Given the description of an element on the screen output the (x, y) to click on. 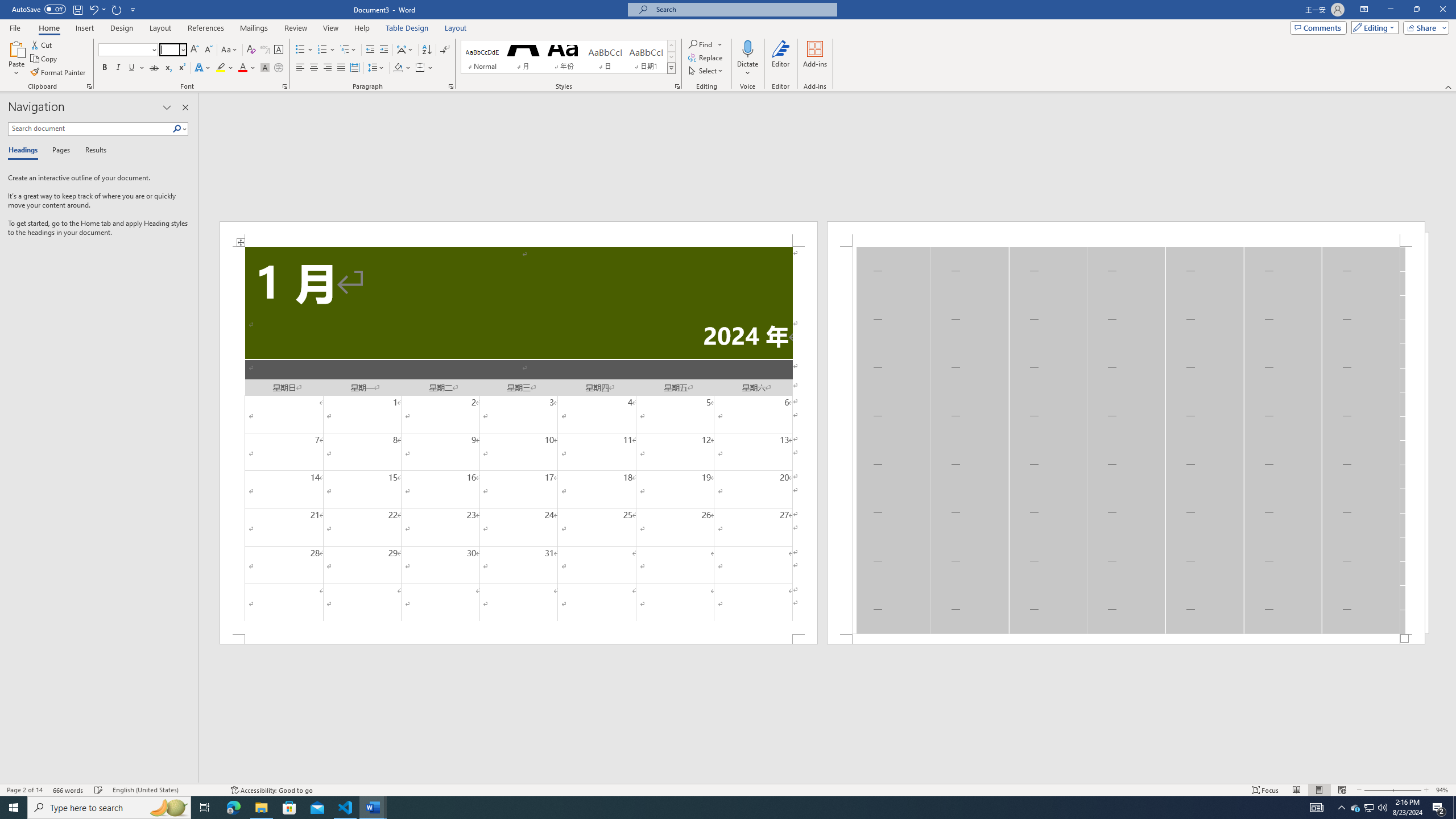
Page 2 content (1126, 439)
